Given the description of an element on the screen output the (x, y) to click on. 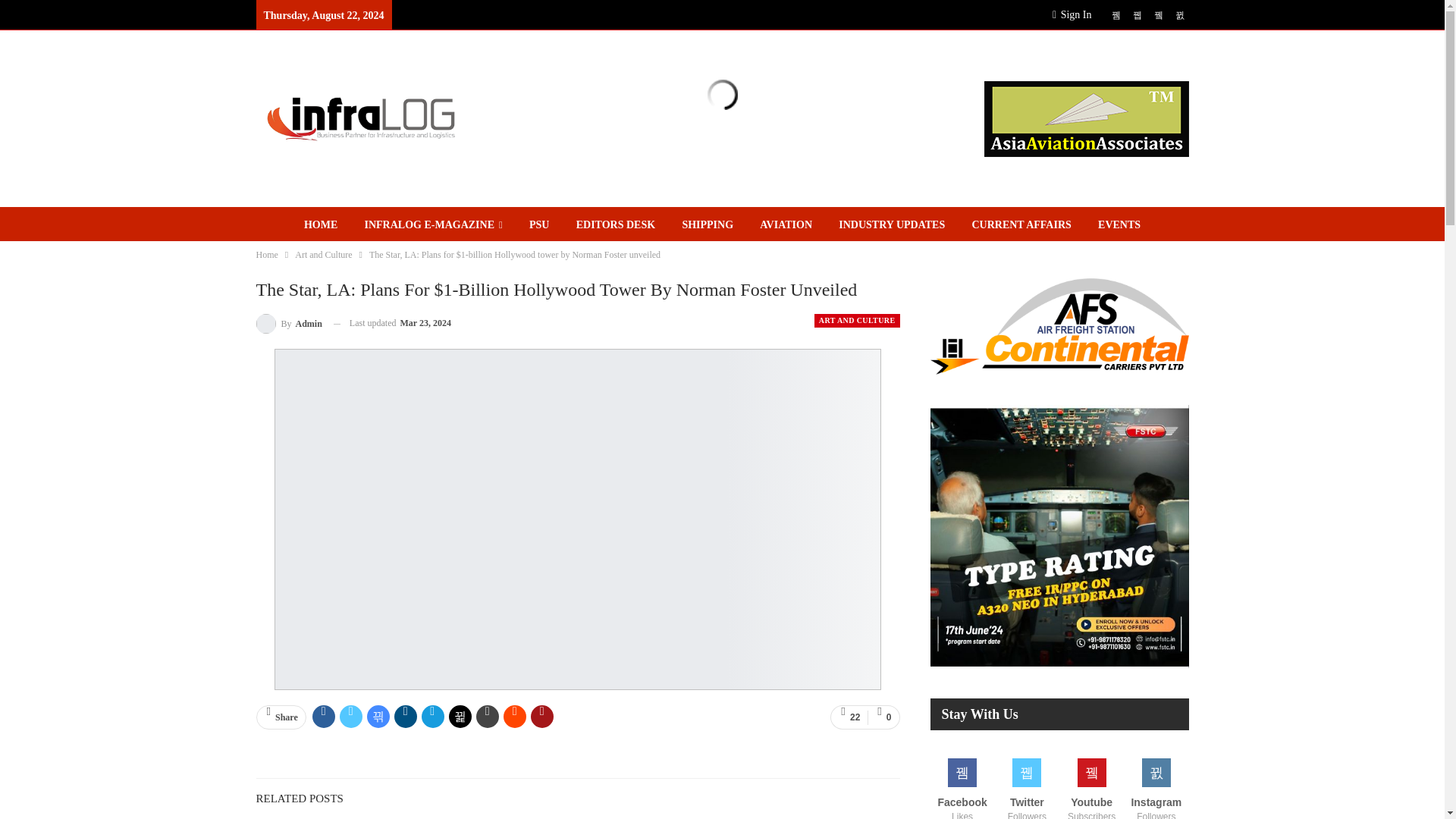
Sign In (1074, 15)
INDUSTRY UPDATES (891, 225)
By Admin (288, 322)
HOME (320, 225)
PSU (538, 225)
Home (267, 254)
SHIPPING (707, 225)
Browse Author Articles (288, 322)
EVENTS (1119, 225)
EDITORS DESK (615, 225)
